Given the description of an element on the screen output the (x, y) to click on. 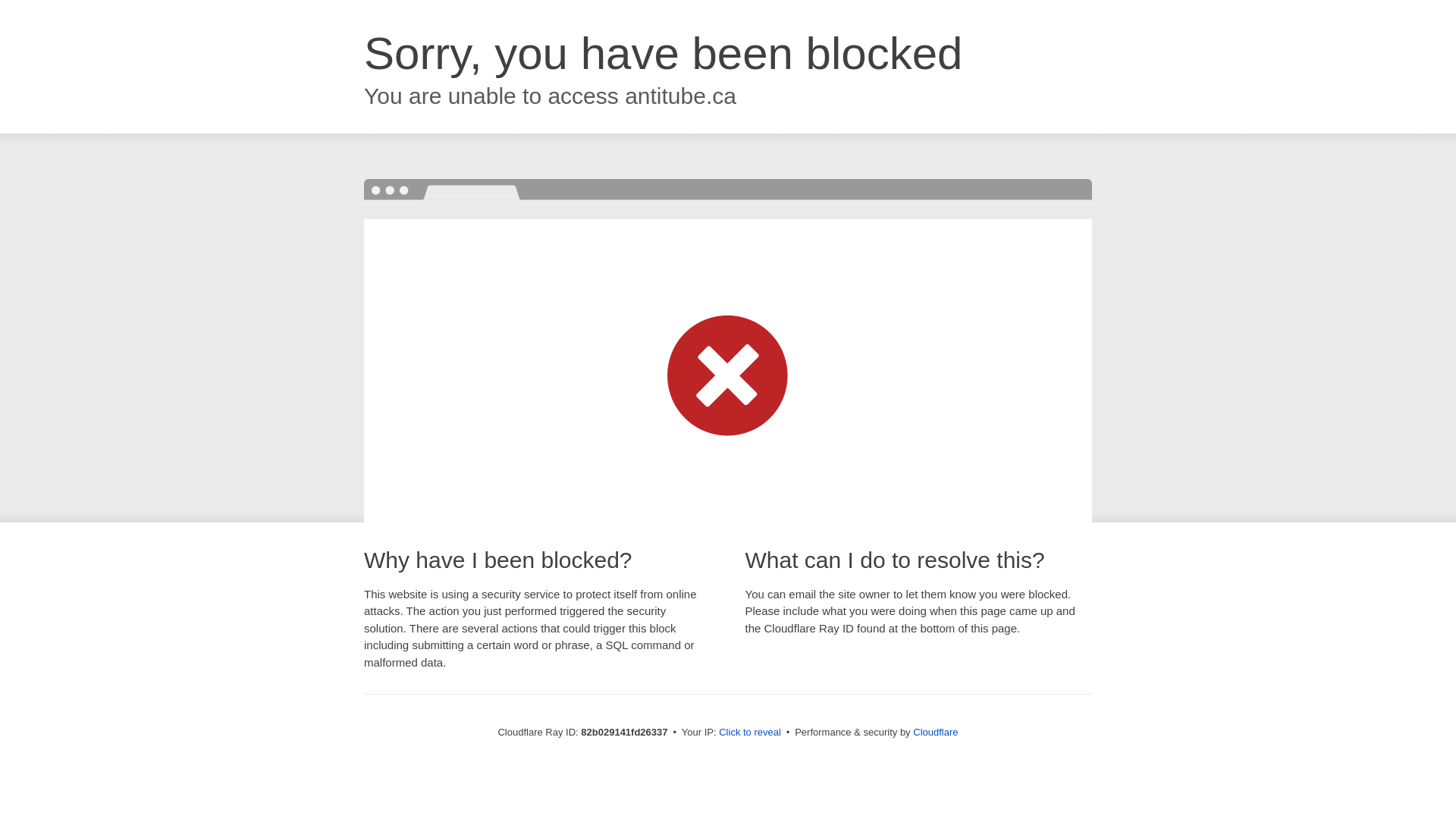
Click to reveal Element type: text (749, 732)
Cloudflare Element type: text (935, 731)
